Given the description of an element on the screen output the (x, y) to click on. 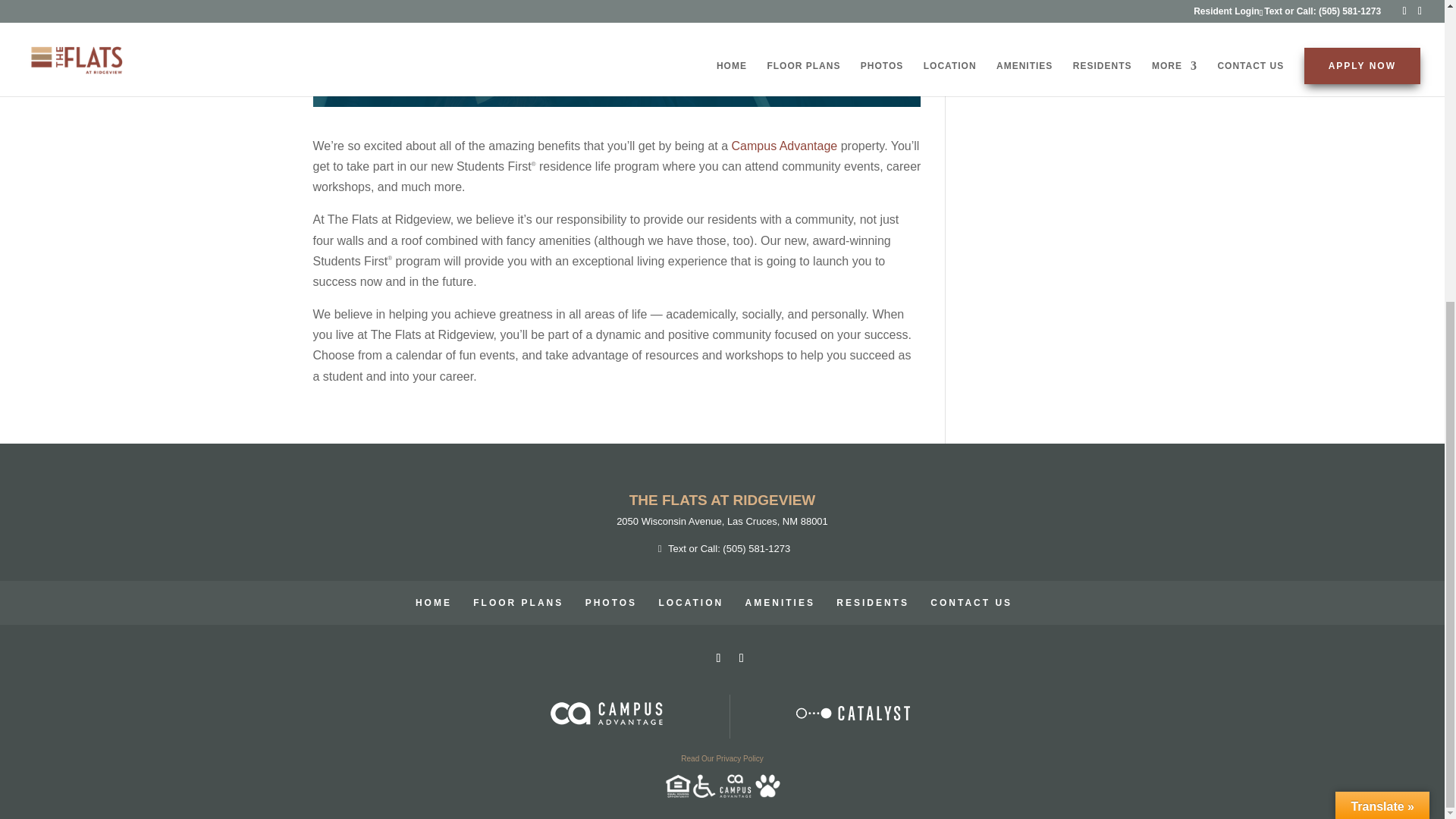
AMENITIES (780, 602)
RESIDENTS (871, 602)
Campus Advantage (785, 145)
FLOOR PLANS (518, 602)
LOCATION (690, 602)
PHOTOS (611, 602)
HOME (432, 602)
